Given the description of an element on the screen output the (x, y) to click on. 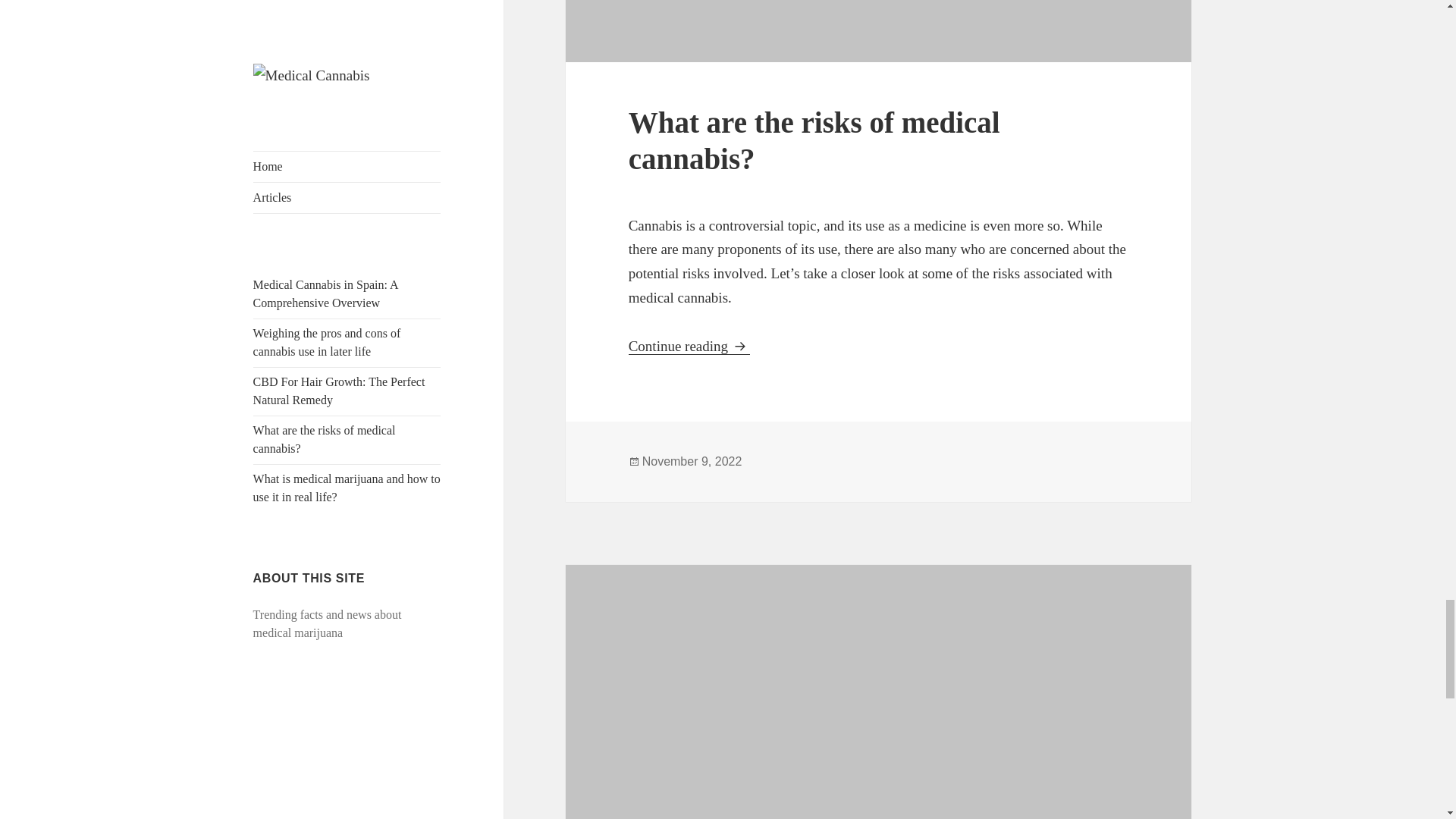
November 9, 2022 (692, 461)
What are the risks of medical cannabis? (688, 346)
